Given the description of an element on the screen output the (x, y) to click on. 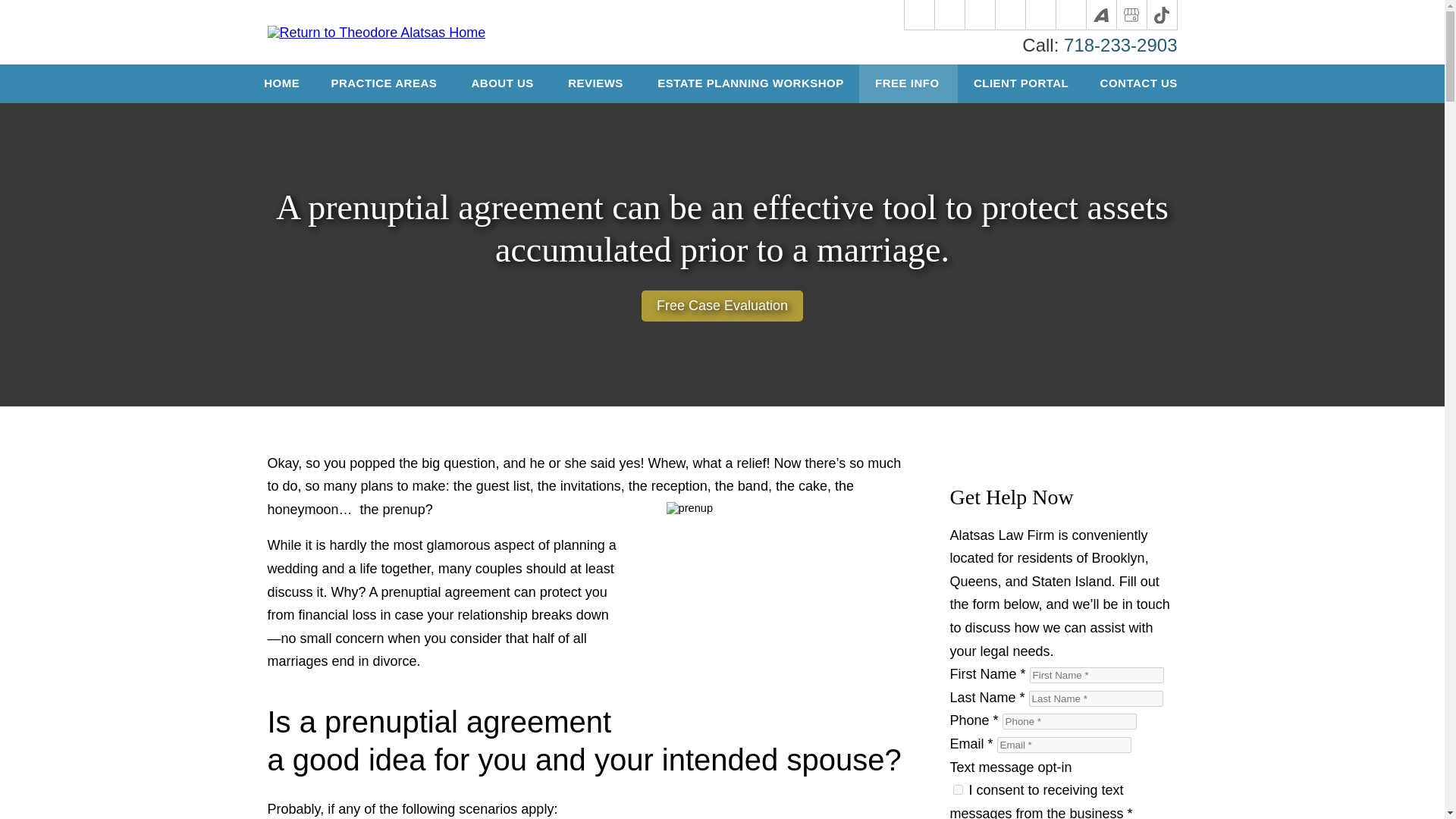
I consent to receiving text messages from the business (957, 789)
PRACTICE AREAS (385, 83)
HOME (281, 83)
